Given the description of an element on the screen output the (x, y) to click on. 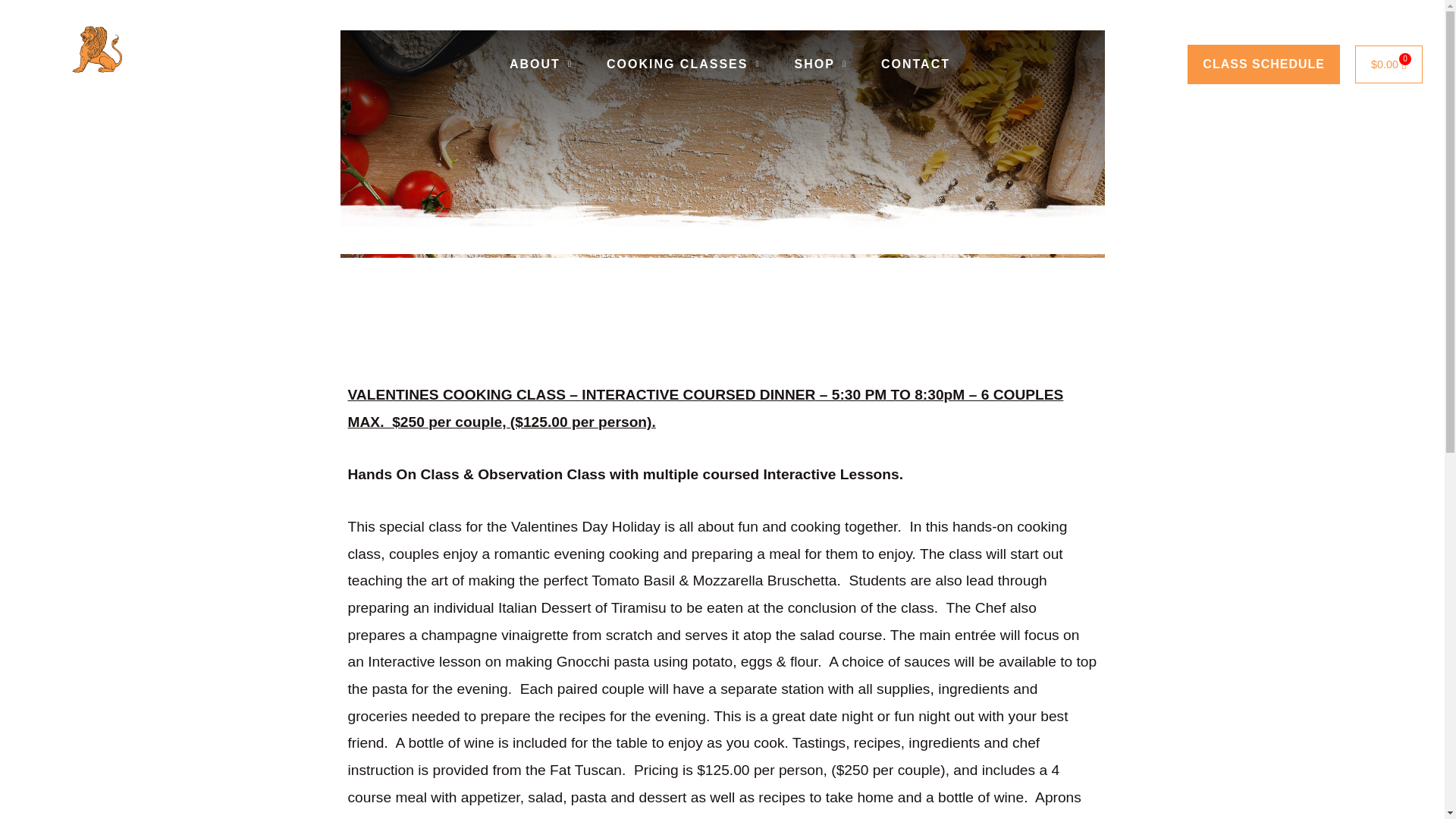
CLASS SCHEDULE (1263, 64)
CONTACT (915, 64)
COOKING CLASSES (683, 64)
SHOP (820, 64)
ABOUT (540, 64)
